Given the description of an element on the screen output the (x, y) to click on. 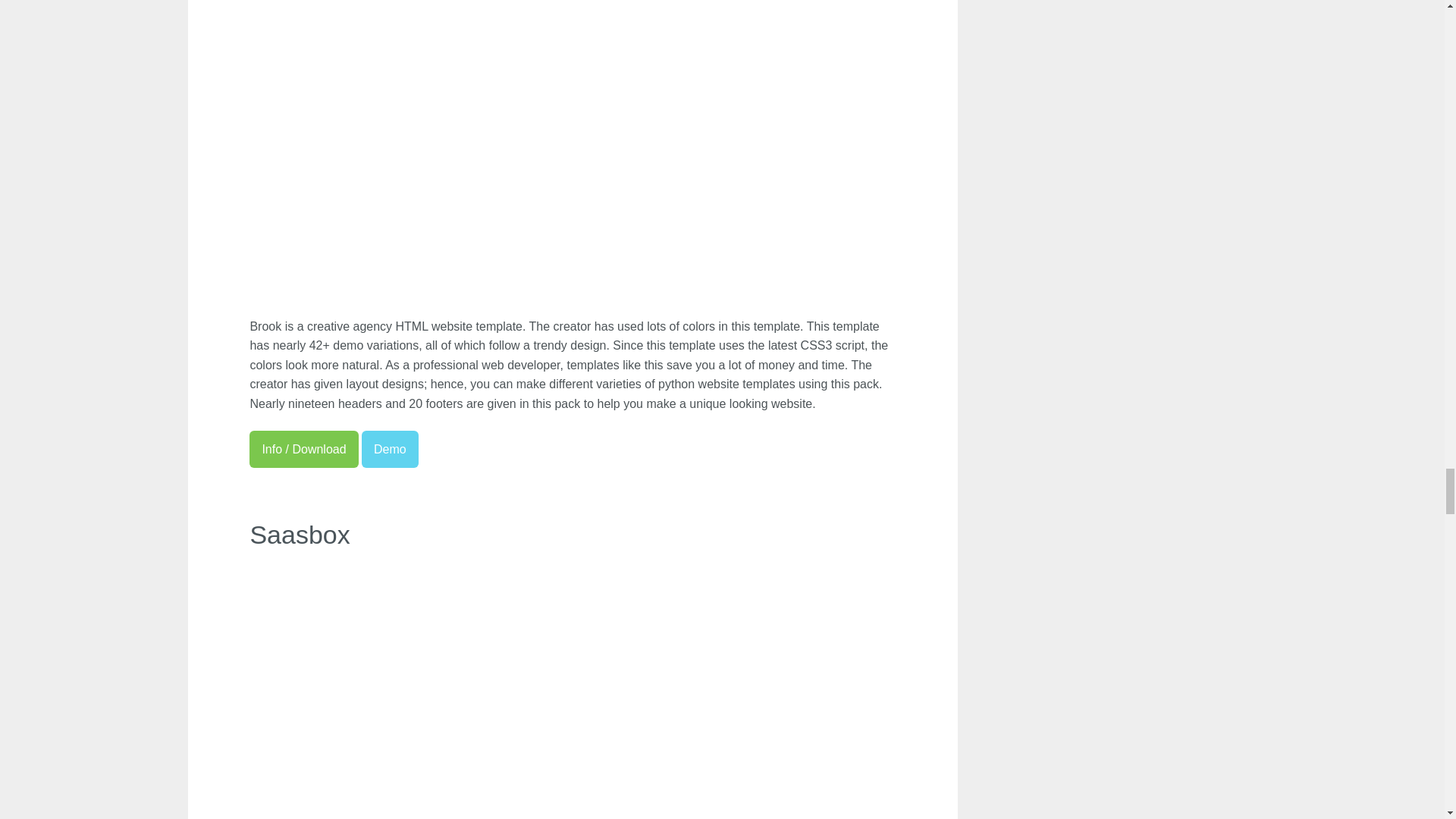
Demo (390, 448)
